Given the description of an element on the screen output the (x, y) to click on. 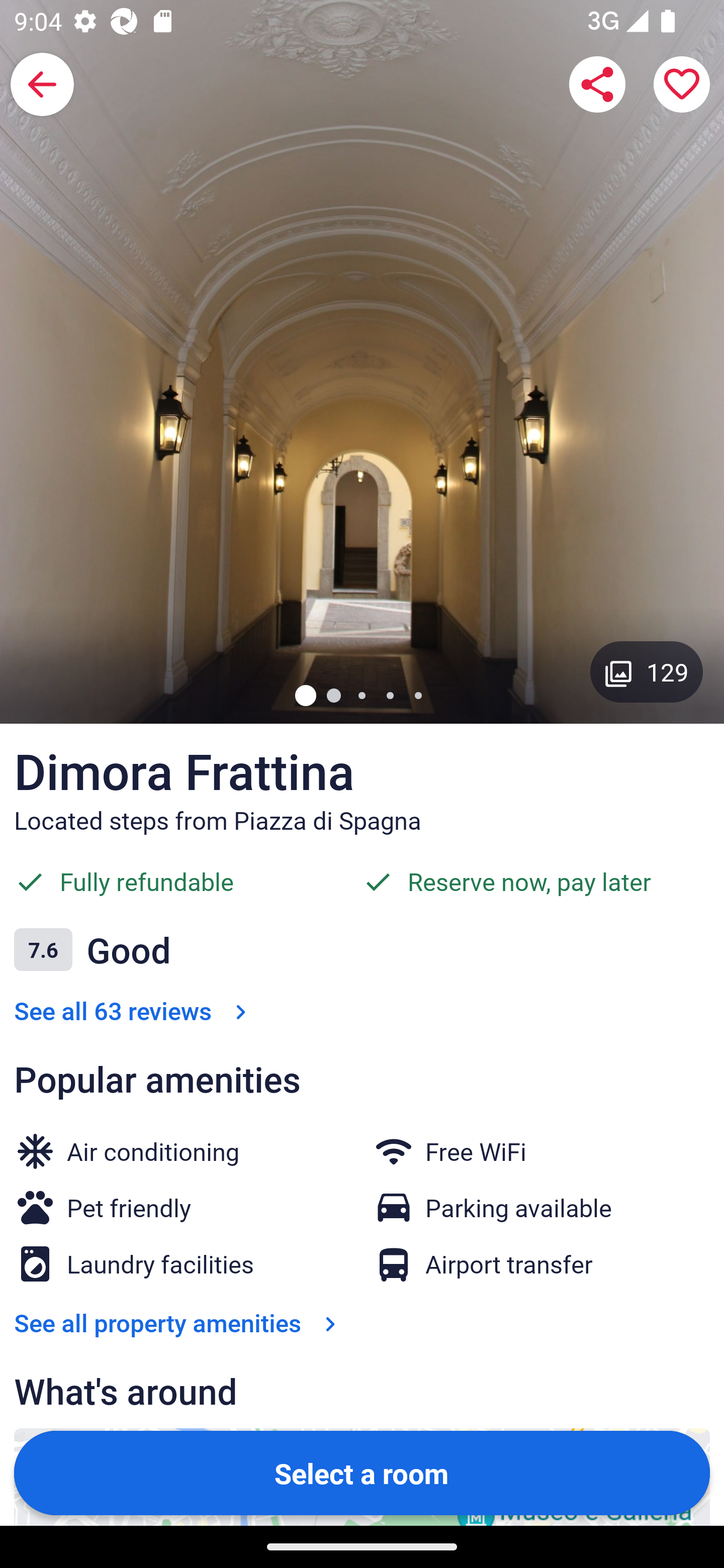
Back (42, 84)
Save property to a trip (681, 84)
Share Dimora Frattina (597, 84)
Gallery button with 129 images (646, 671)
See all 63 reviews See all 63 reviews Link (133, 1010)
See all property amenities (178, 1323)
Select a room Button Select a room (361, 1472)
